Given the description of an element on the screen output the (x, y) to click on. 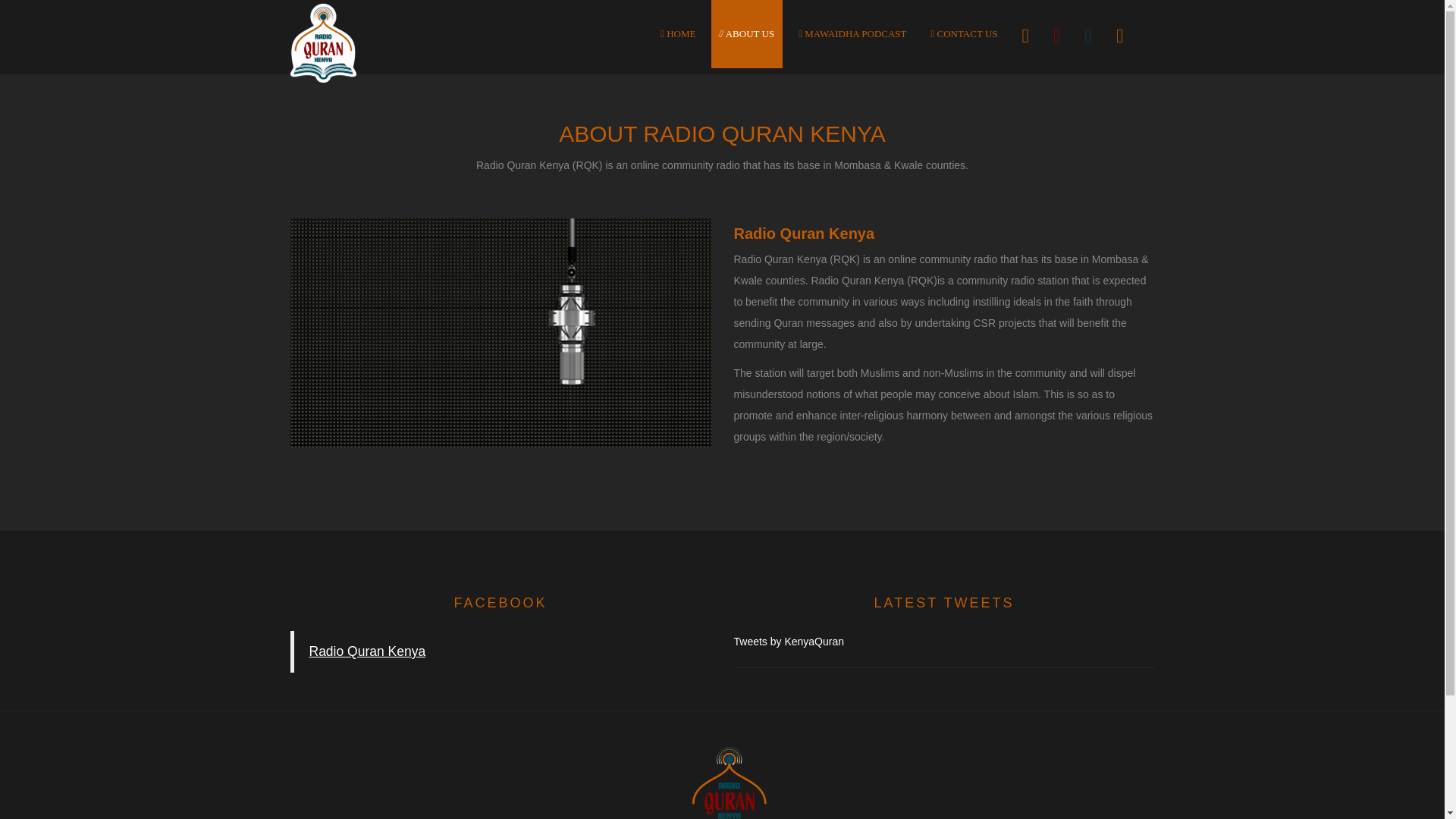
ABOUT US (747, 33)
Radio Quran Kenya (367, 651)
CONTACT US (964, 33)
MAWAIDHA PODCAST (852, 33)
Tweets by KenyaQuran (943, 640)
